Given the description of an element on the screen output the (x, y) to click on. 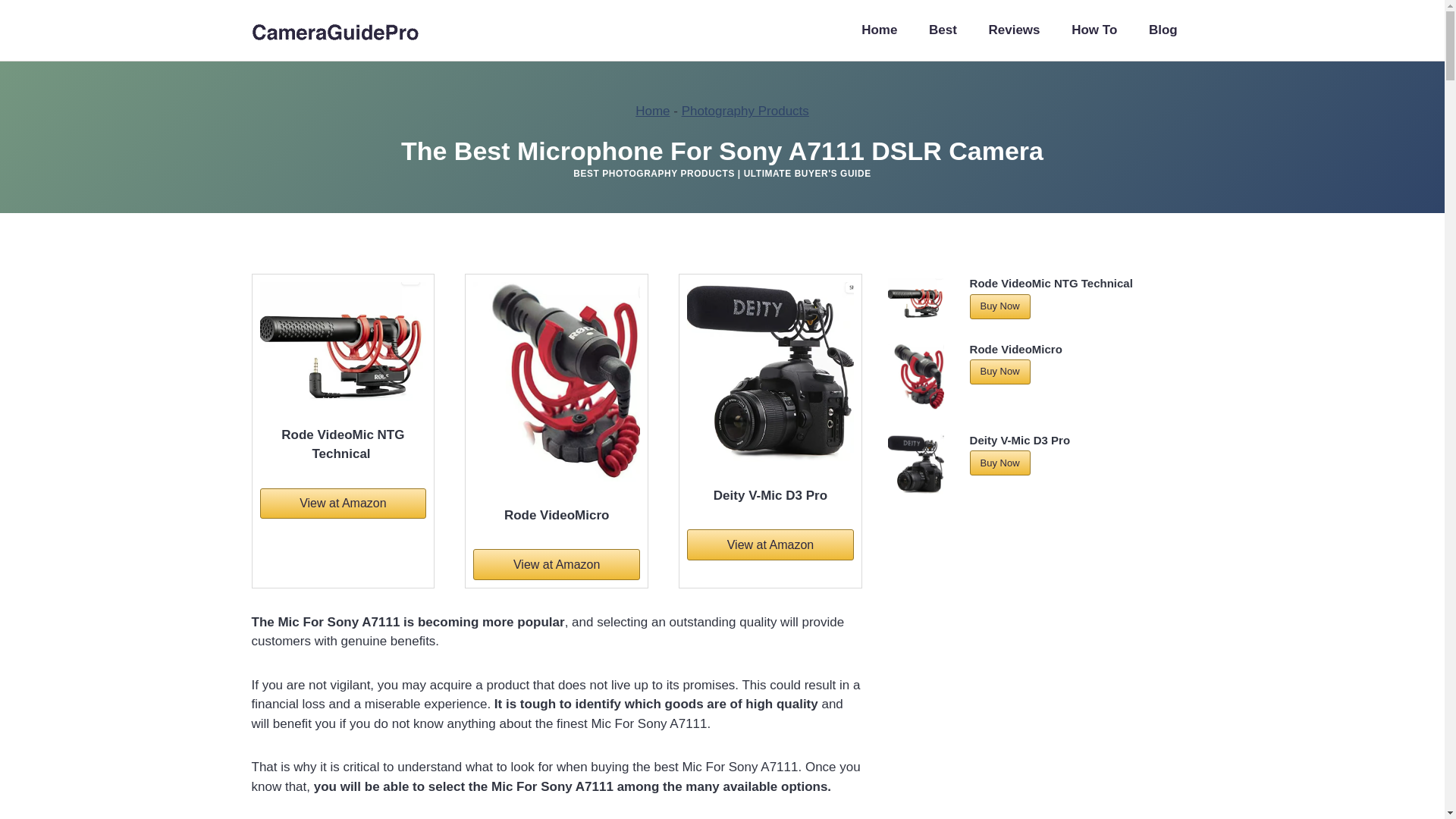
Best (942, 30)
View at Amazon (556, 563)
Home (651, 110)
Buy Now (999, 306)
Blog (1162, 30)
Photography Products (745, 110)
How To (1093, 30)
Buy Now (999, 371)
View at Amazon (342, 503)
Buy Now (999, 462)
